Given the description of an element on the screen output the (x, y) to click on. 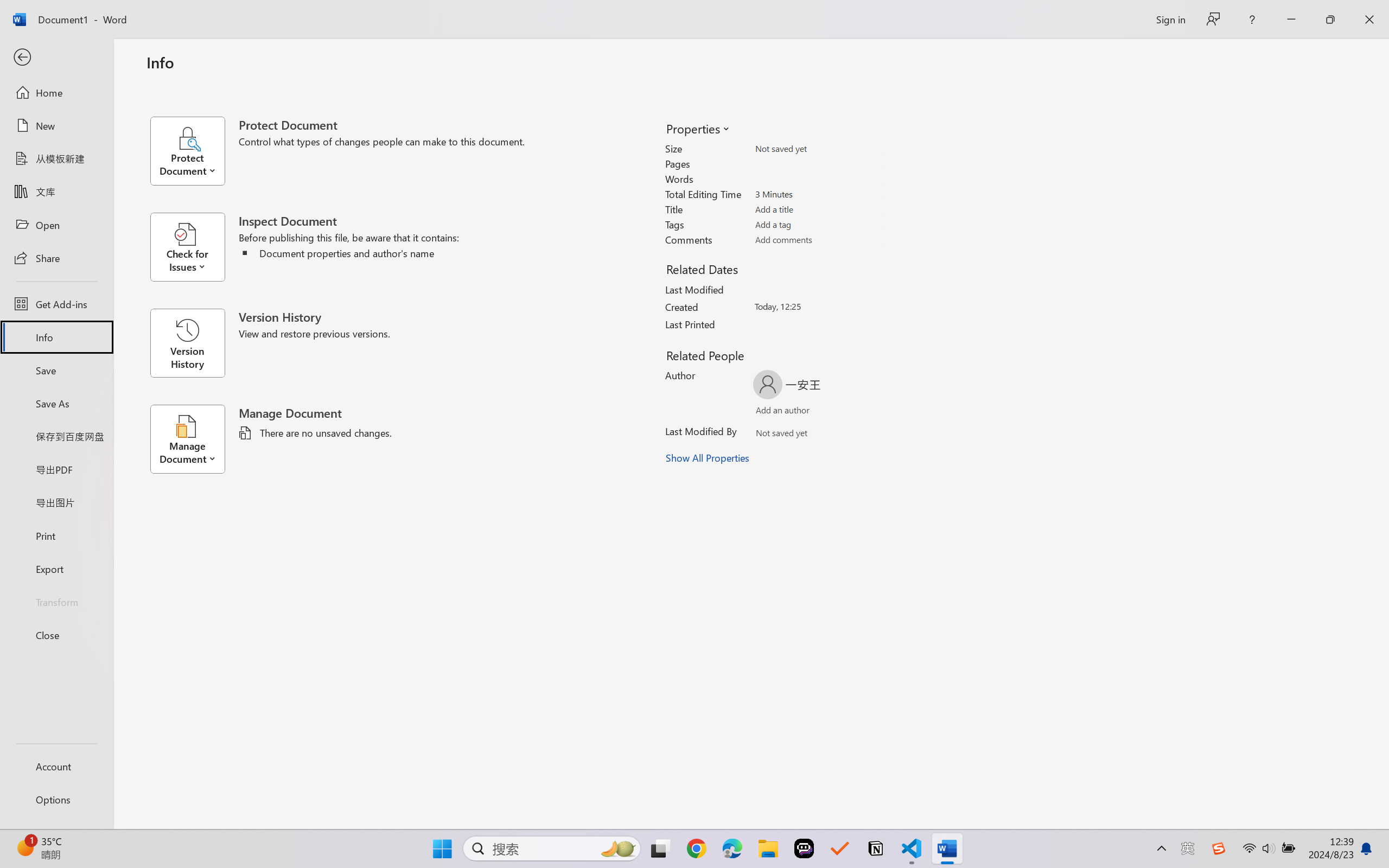
Address and search bar (674, 37)
Google (818, 12)
Chrome Web Store - Color themes by Chrome (887, 12)
Sign in - Google Accounts (540, 12)
Install (742, 135)
